Given the description of an element on the screen output the (x, y) to click on. 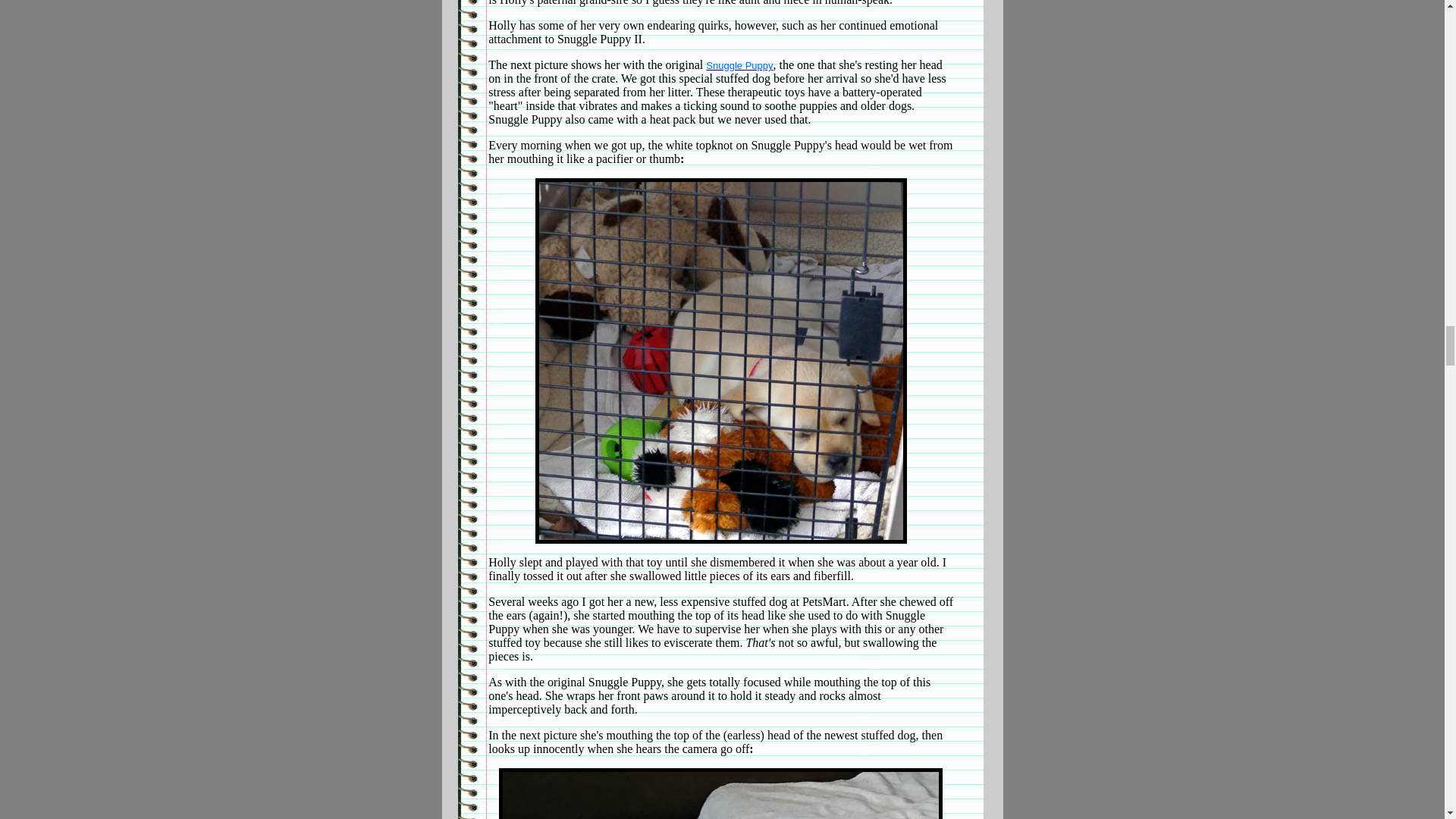
Snuggle Puppy (739, 65)
